Given the description of an element on the screen output the (x, y) to click on. 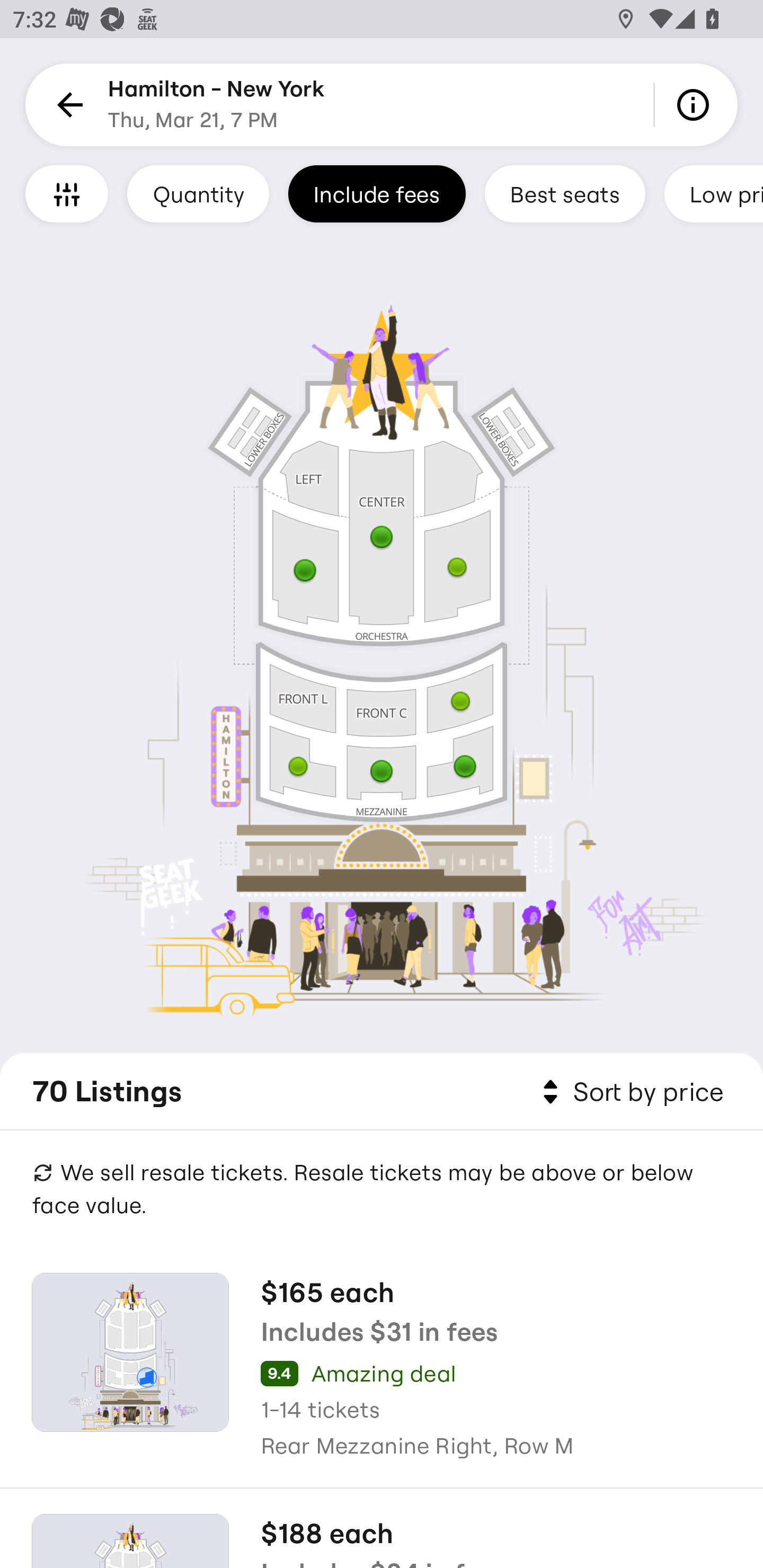
Back (66, 104)
Hamilton - New York Thu, Mar 21, 7 PM (216, 104)
Info (695, 104)
Filters and Accessible Seating (66, 193)
Quantity (198, 193)
Include fees (376, 193)
Best seats (564, 193)
Low prices (713, 193)
Sort by price (629, 1091)
